Given the description of an element on the screen output the (x, y) to click on. 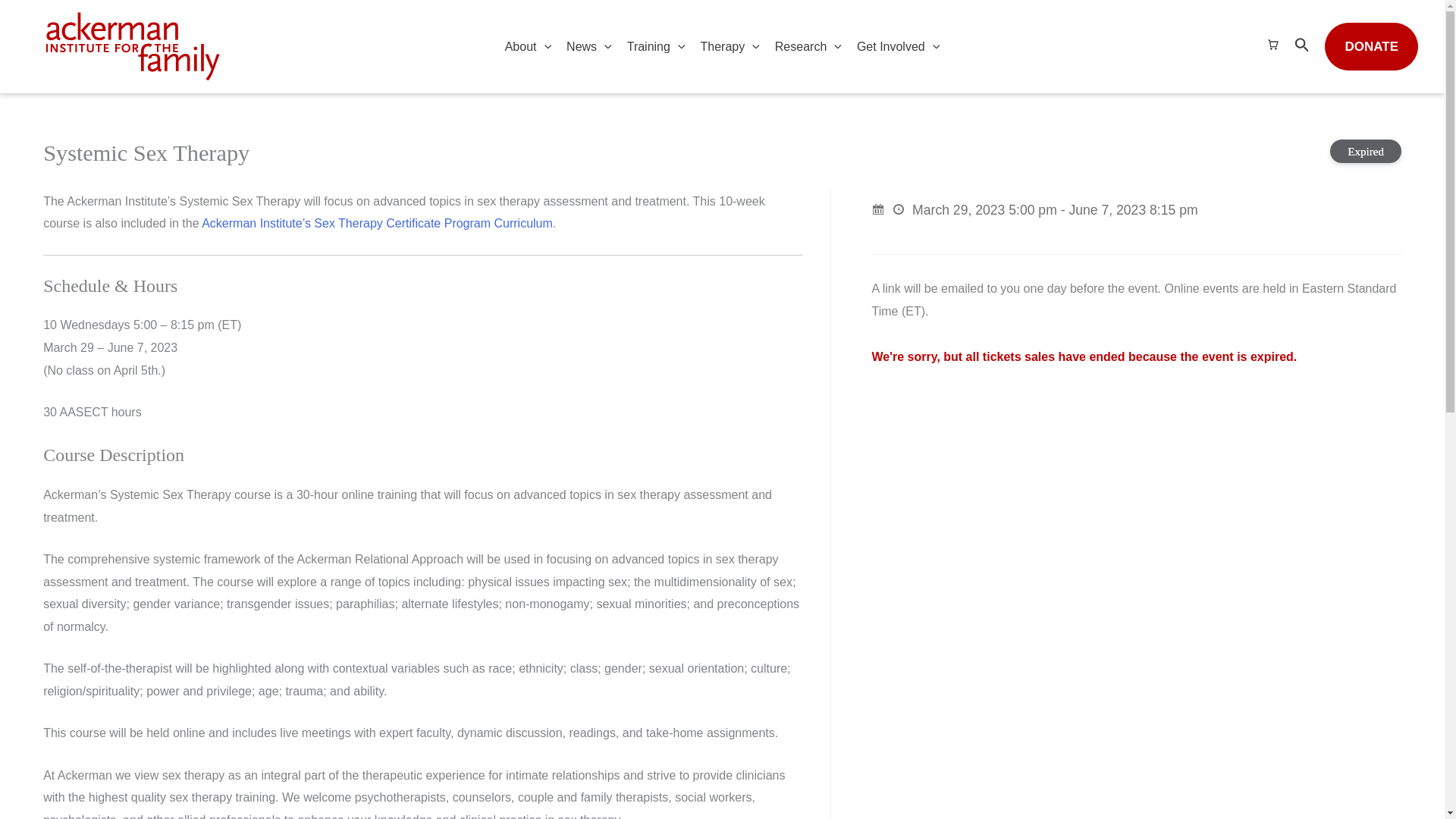
News (589, 46)
Therapy (730, 46)
Training (656, 46)
About (528, 46)
